Given the description of an element on the screen output the (x, y) to click on. 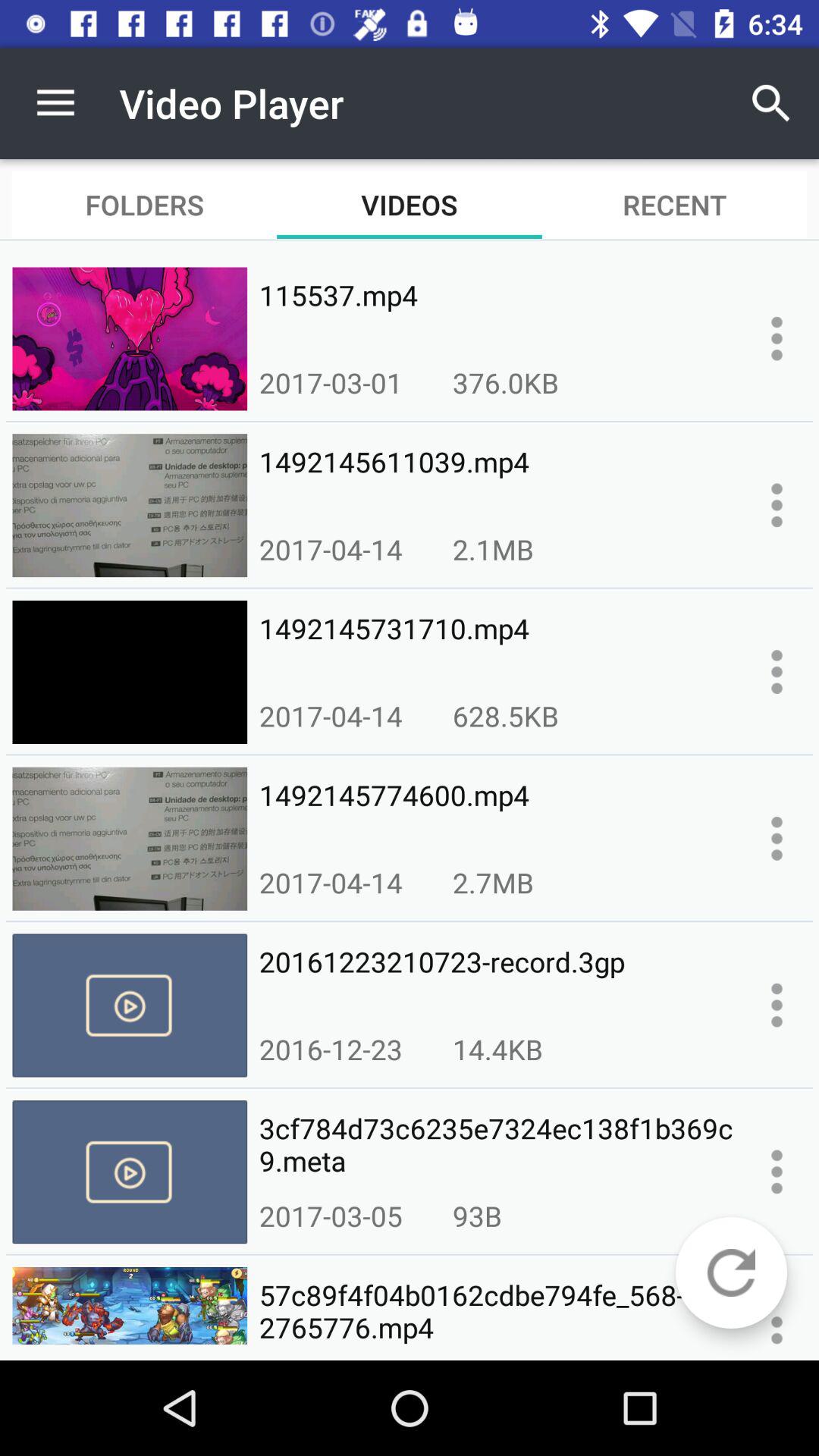
click icon above 2016-12-23 item (496, 978)
